Given the description of an element on the screen output the (x, y) to click on. 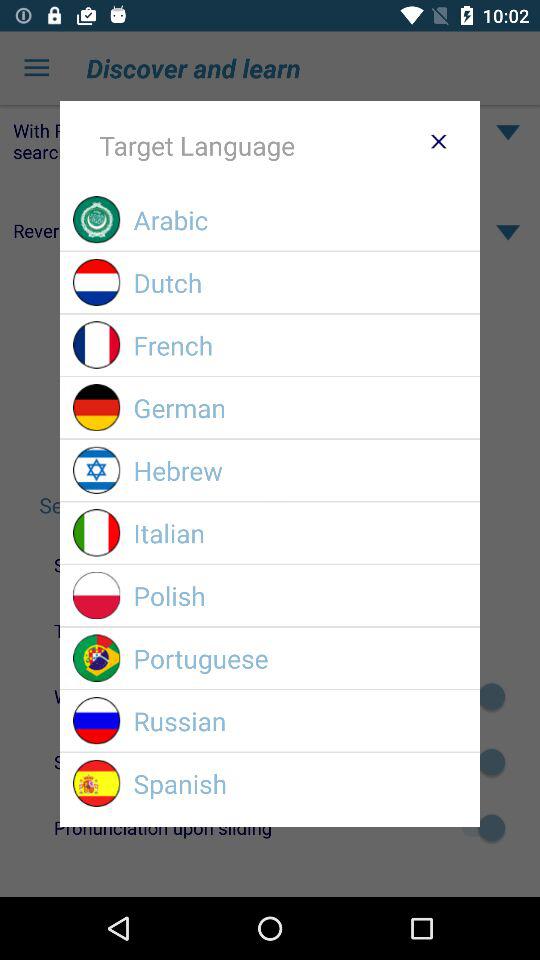
exit menu (438, 141)
